Given the description of an element on the screen output the (x, y) to click on. 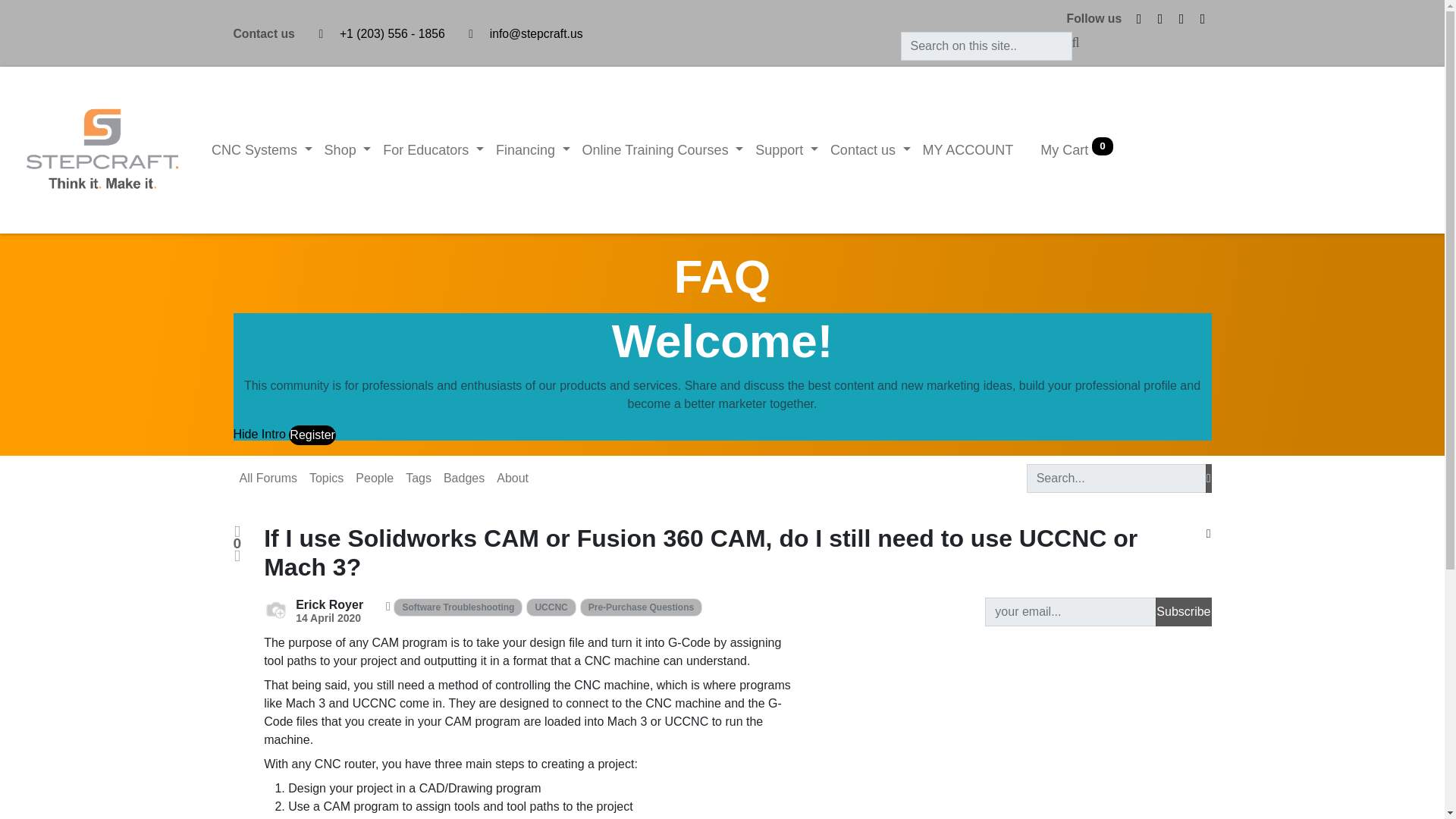
Search (1208, 478)
Shop (347, 150)
Positive vote (236, 532)
All forums (267, 478)
Stepcraft, Inc. (101, 150)
Financing (532, 150)
Negative vote (236, 556)
CNC Systems (261, 150)
For Educators (433, 150)
Online Training Courses (662, 150)
Support (786, 150)
